Given the description of an element on the screen output the (x, y) to click on. 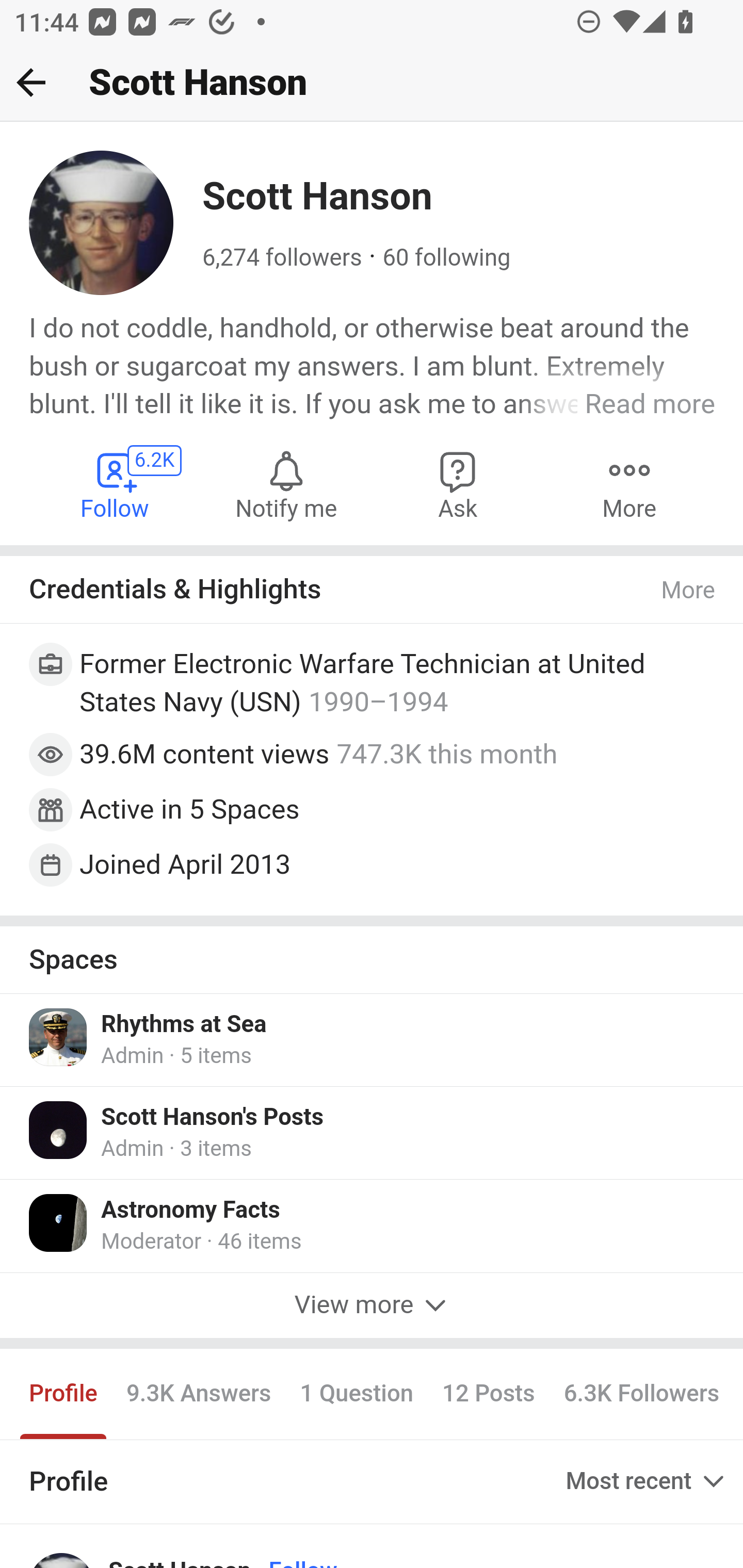
Back Scott Hanson (371, 82)
Back (30, 82)
6,274 followers (282, 257)
60 following (445, 257)
Follow Scott Hanson 6.2K Follow (115, 483)
Notify me (285, 483)
Ask (458, 483)
More (628, 483)
More (688, 590)
Icon for Rhythms at Sea (58, 1036)
Rhythms at Sea (184, 1024)
Icon for Scott Hanson's Posts (58, 1129)
Scott Hanson's Posts (213, 1116)
Icon for Astronomy Facts (58, 1223)
Astronomy Facts (191, 1210)
View more (371, 1305)
Profile (63, 1393)
9.3K Answers (197, 1393)
1 Question (357, 1393)
12 Posts (488, 1393)
6.3K Followers (641, 1393)
Most recent (647, 1481)
